Given the description of an element on the screen output the (x, y) to click on. 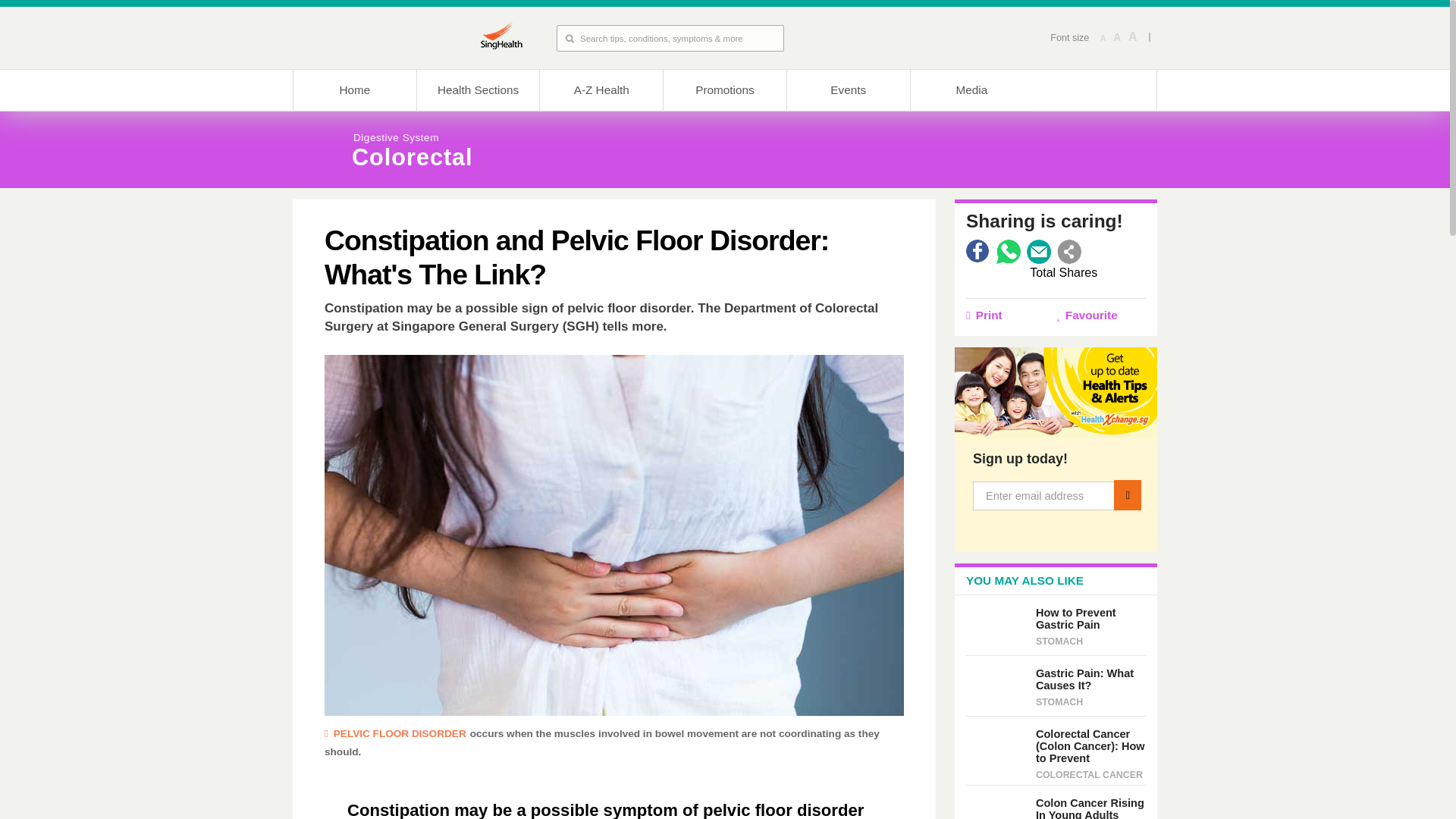
Promotions (724, 89)
Events (848, 89)
Health Sections (478, 89)
Media (971, 89)
Facebook (978, 251)
Email Us (1038, 251)
WhatsApp (1007, 251)
A (1132, 37)
Share this Page (1069, 251)
Favourite (1100, 315)
A-Z Health (600, 89)
Home (354, 89)
